Given the description of an element on the screen output the (x, y) to click on. 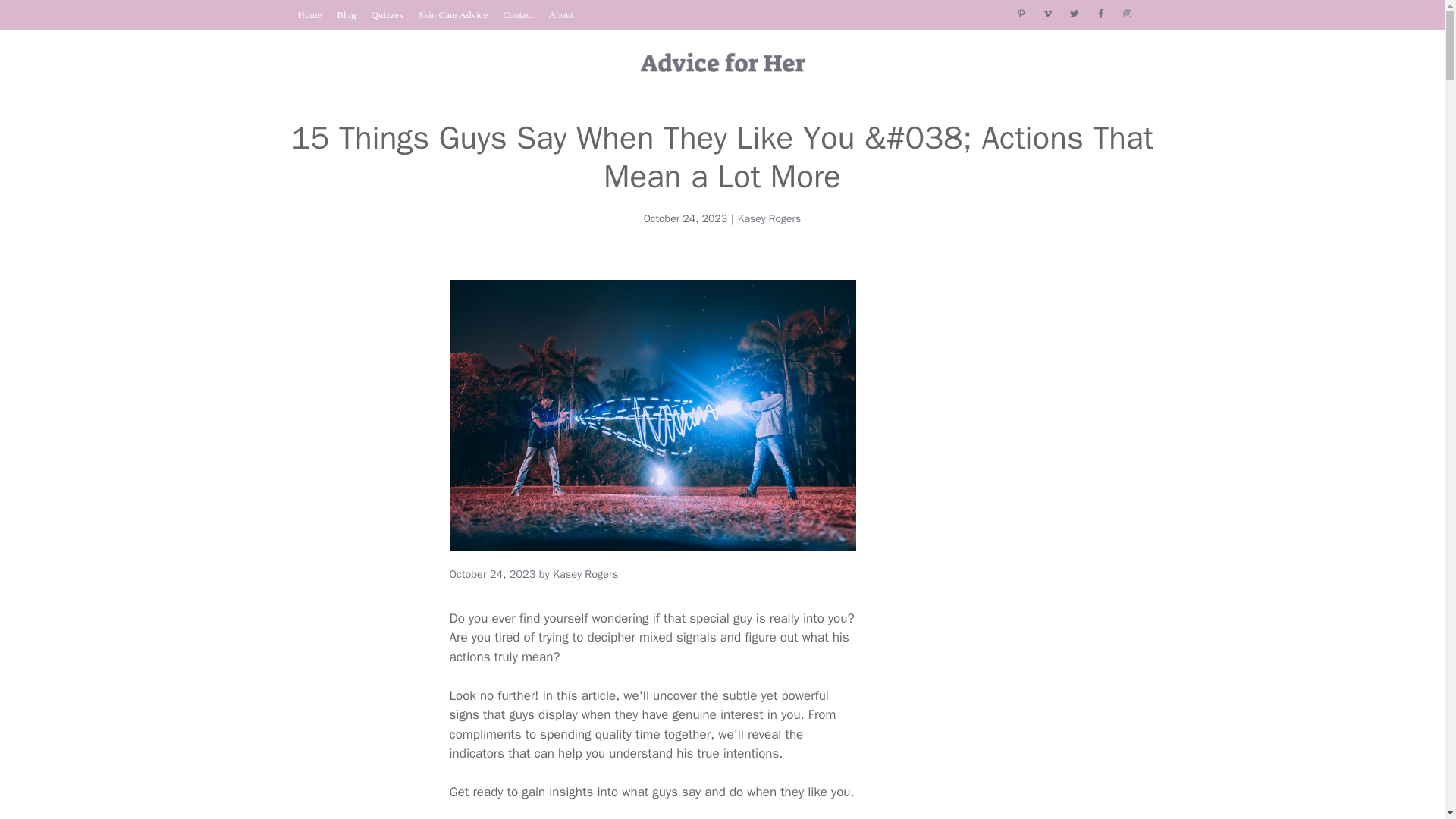
Kasey Rogers (770, 218)
Blog (345, 14)
View all posts by Kasey Rogers (585, 573)
Contact (517, 14)
About (560, 14)
Kasey Rogers (585, 573)
Home (309, 14)
Quizzes (387, 14)
Skin Care Advice (452, 14)
